Given the description of an element on the screen output the (x, y) to click on. 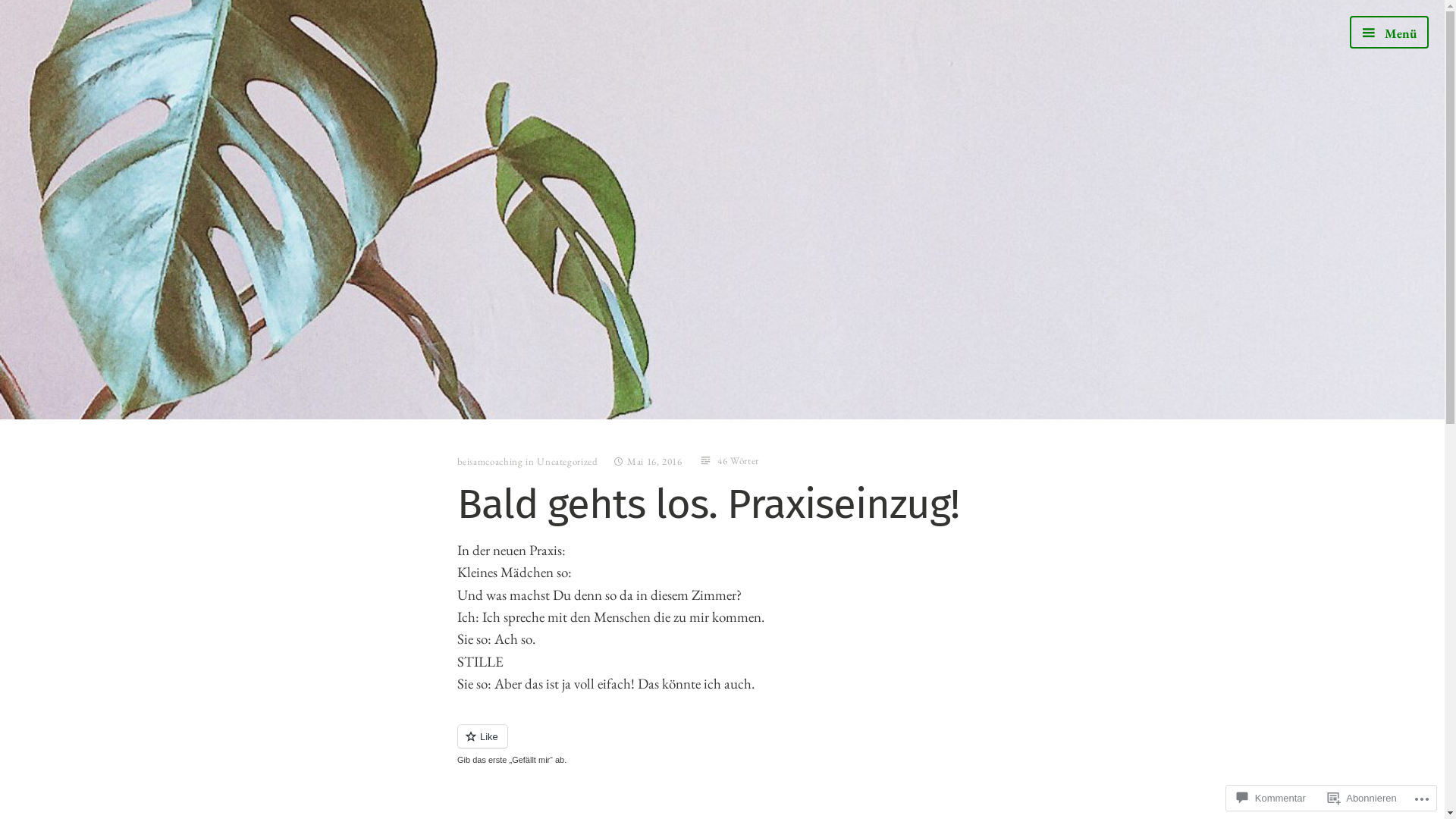
Uncategorized Element type: text (566, 461)
Abonnieren Element type: text (1361, 797)
bei sam coaching Element type: text (460, 241)
Kommentar Element type: text (1270, 797)
beisamcoaching Element type: text (489, 461)
Liken oder rebloggen Element type: hover (721, 744)
